Given the description of an element on the screen output the (x, y) to click on. 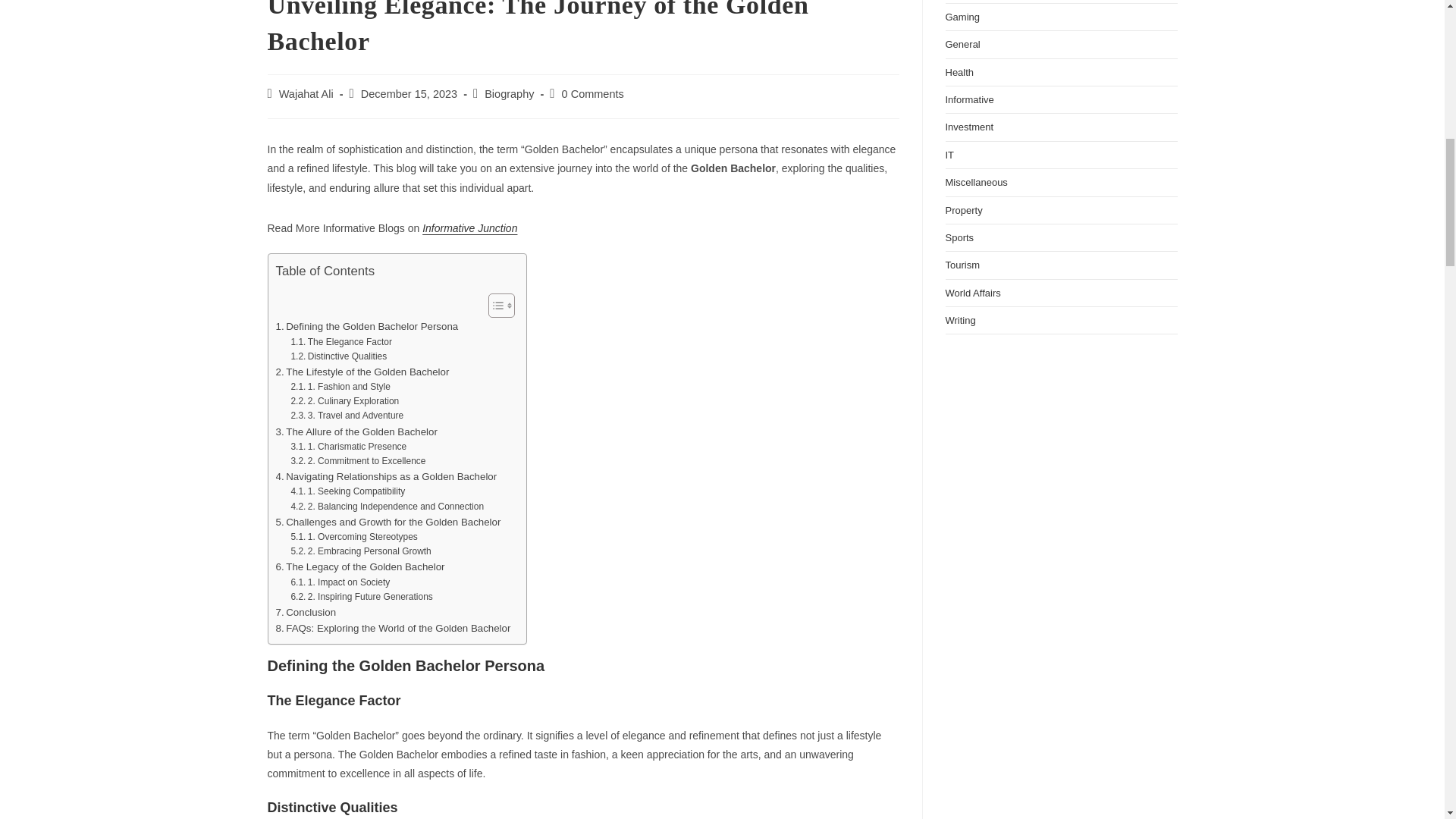
Posts by Wajahat Ali (306, 93)
The Elegance Factor (340, 341)
2. Commitment to Excellence (357, 461)
Defining the Golden Bachelor Persona (367, 326)
1. Charismatic Presence (347, 446)
1. Fashion and Style (339, 386)
Distinctive Qualities (338, 356)
2. Culinary Exploration (343, 400)
3. Travel and Adventure (346, 415)
The Lifestyle of the Golden Bachelor (362, 371)
